Given the description of an element on the screen output the (x, y) to click on. 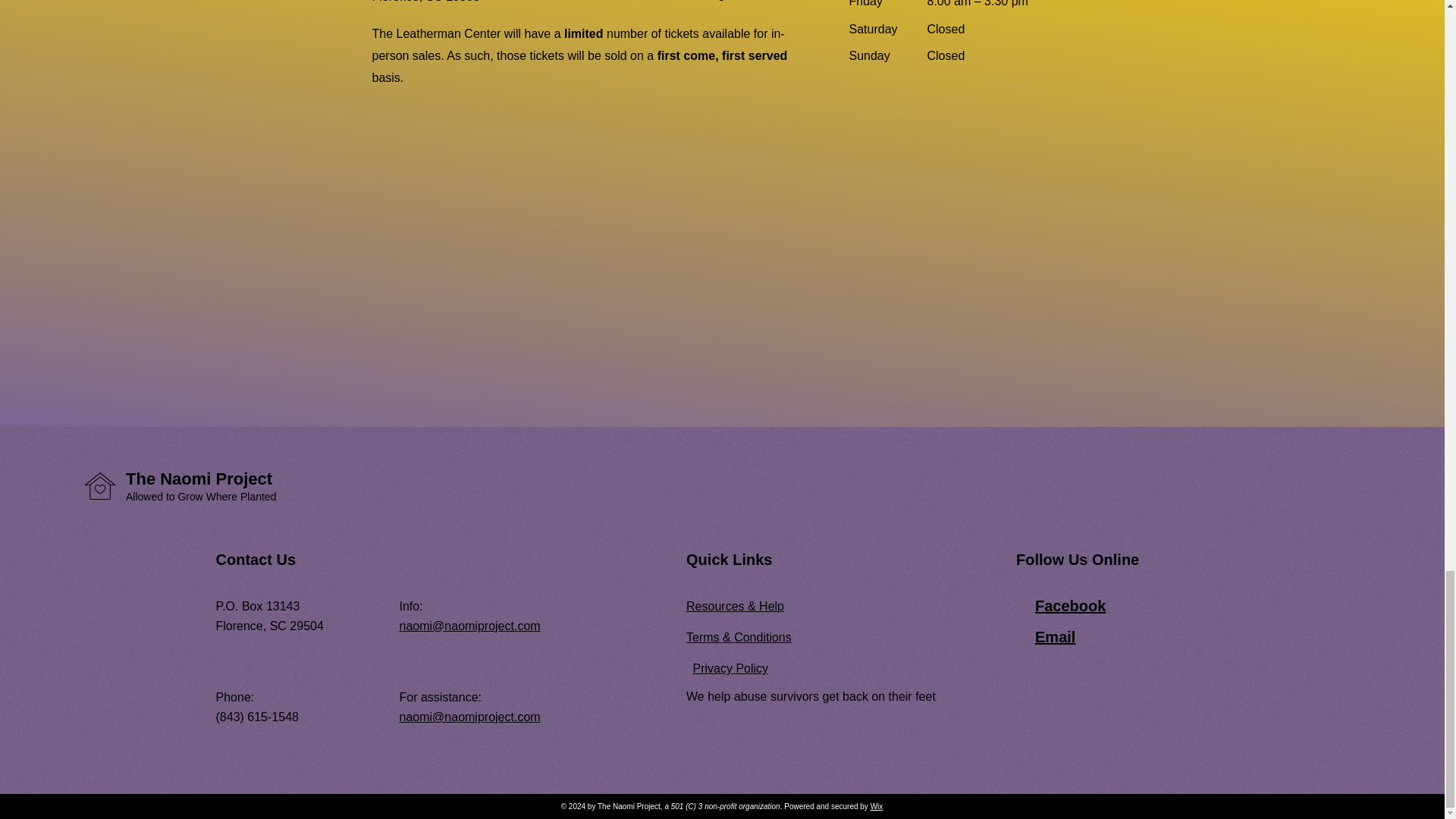
The Naomi Project (198, 478)
.com (526, 625)
Privacy Policy (730, 667)
Email (1055, 636)
Wix (876, 806)
Facebook (1070, 605)
